Given the description of an element on the screen output the (x, y) to click on. 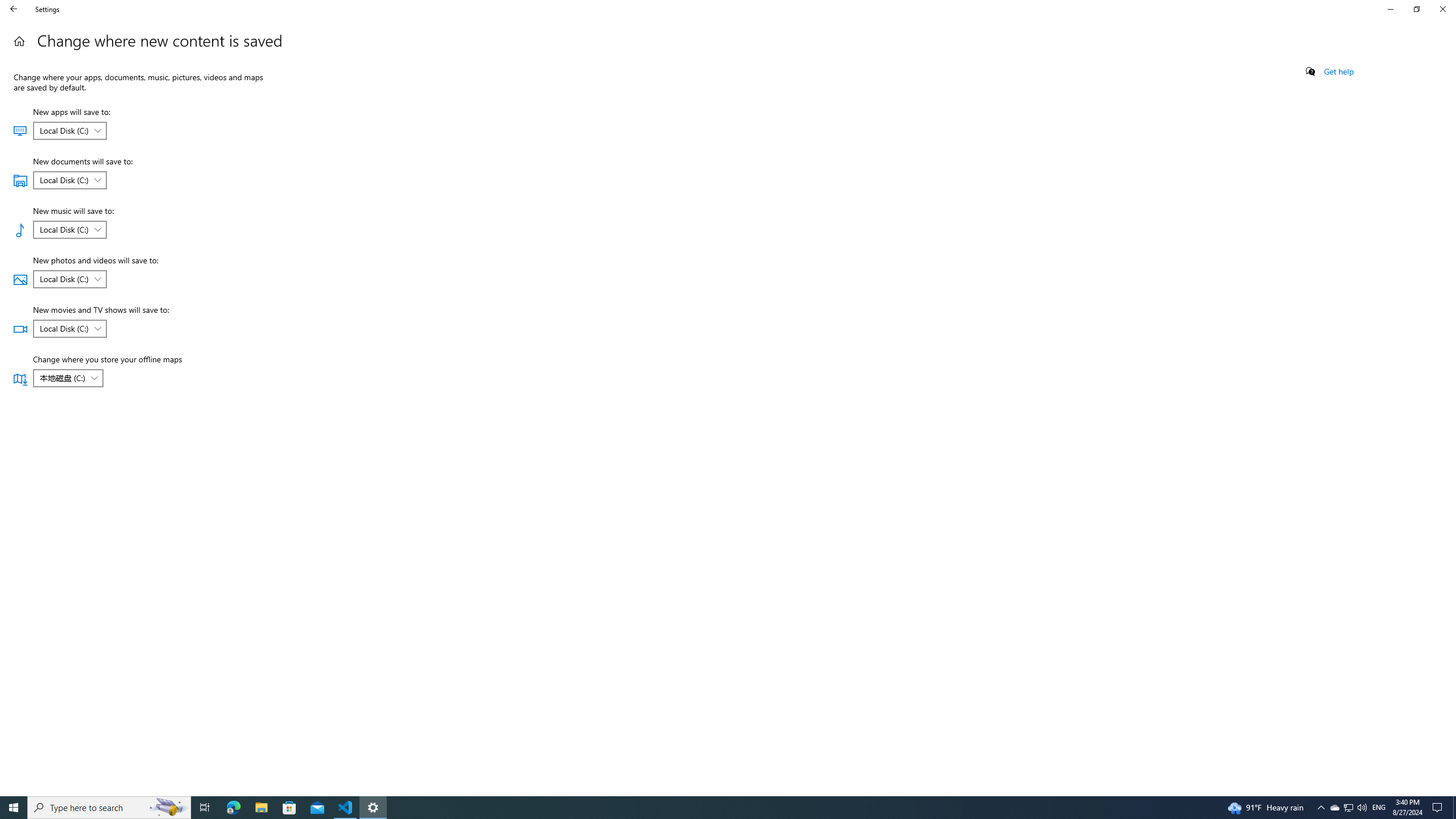
Q2790: 100% (1361, 807)
Action Center, No new notifications (1439, 807)
Running applications (706, 807)
New photos and videos will save to: (69, 279)
Restore Settings (1416, 9)
New apps will save to: (69, 131)
File Explorer (261, 807)
User Promoted Notification Area (1333, 807)
Show desktop (1347, 807)
Settings - 1 running window (1454, 807)
Notification Chevron (373, 807)
Visual Studio Code - 1 running window (1320, 807)
